Given the description of an element on the screen output the (x, y) to click on. 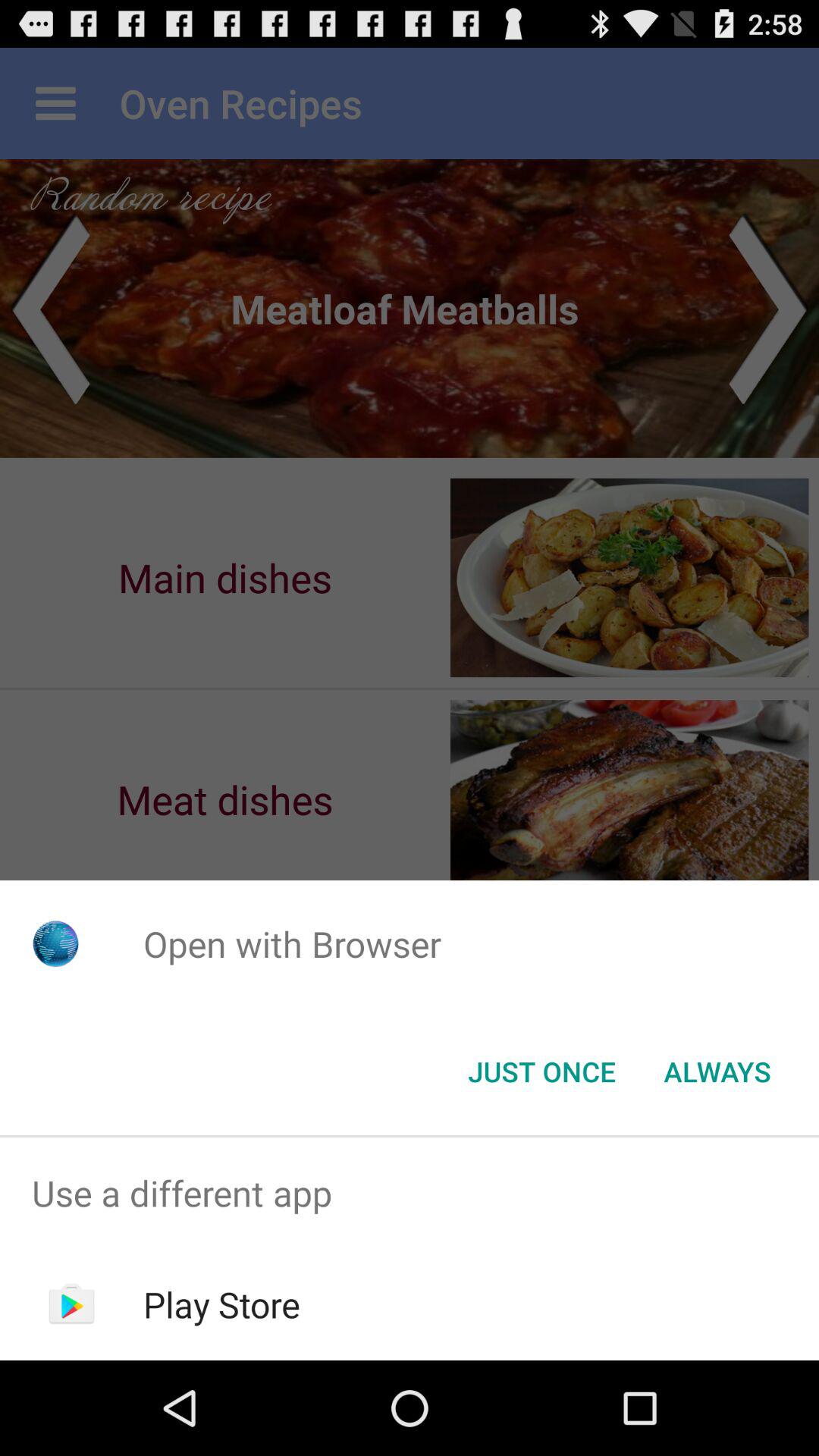
select icon below the open with browser app (541, 1071)
